Given the description of an element on the screen output the (x, y) to click on. 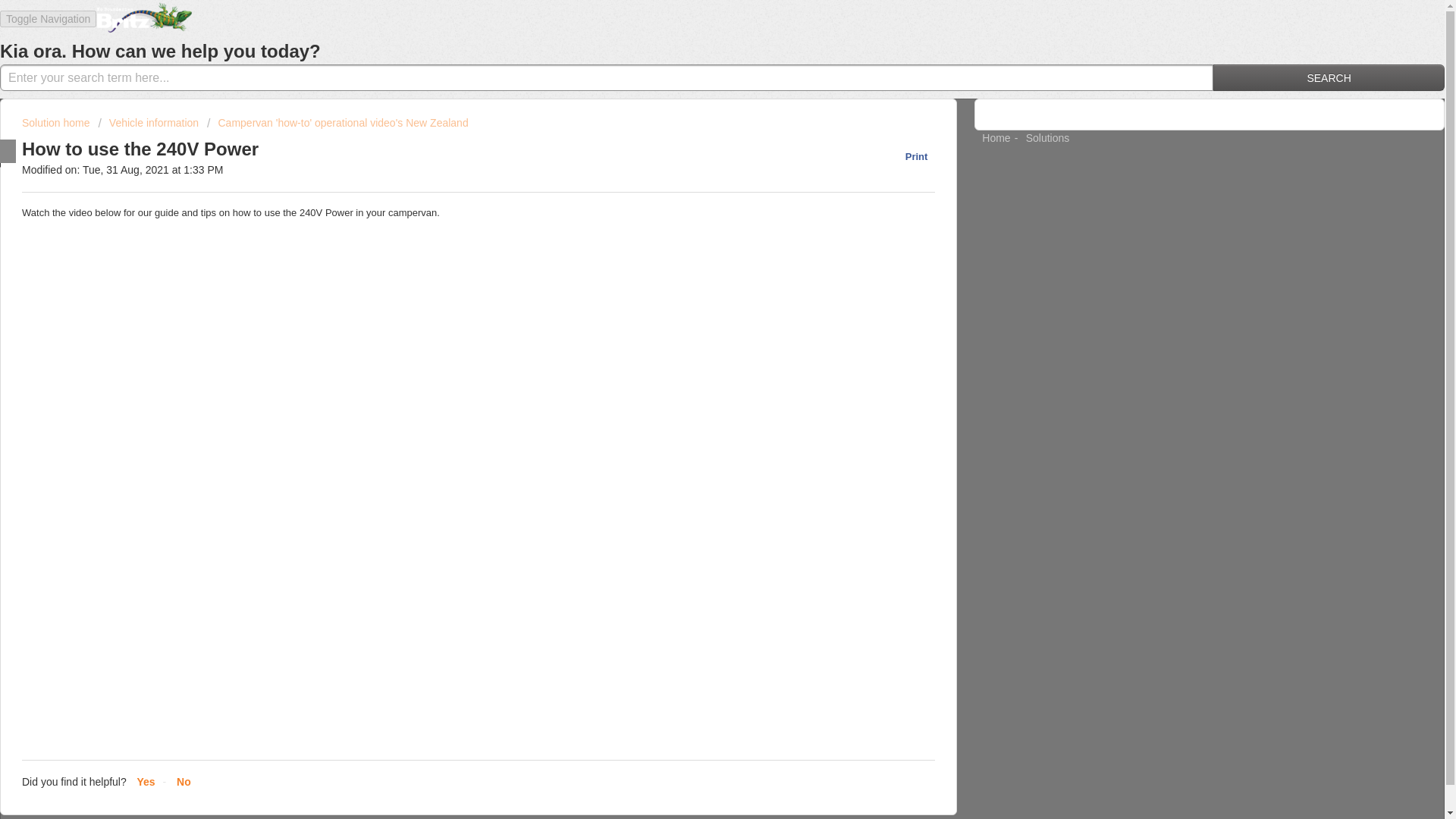
Home (995, 137)
Print this Article (908, 156)
Solutions (1048, 137)
Campervan 'how-to' operational video's New Zealand (337, 122)
Print (908, 156)
Solution home (57, 122)
Toggle Navigation (48, 18)
Vehicle information (147, 122)
